Given the description of an element on the screen output the (x, y) to click on. 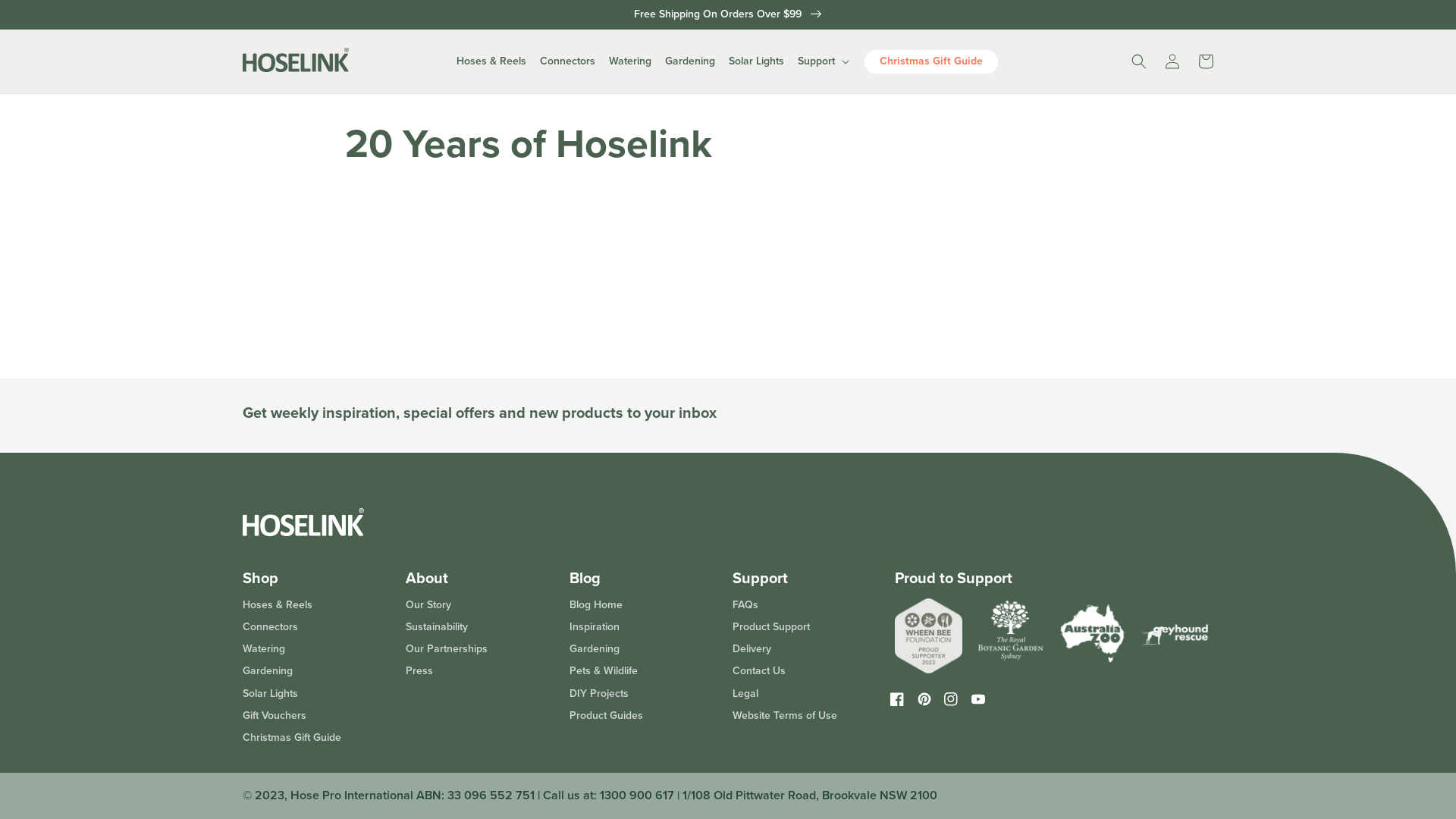
Facebook Element type: text (897, 698)
Solar Lights Element type: text (270, 693)
Delivery Element type: text (751, 648)
Gardening Element type: text (267, 670)
Website Terms of Use Element type: text (784, 715)
Pinterest Element type: text (923, 698)
Gardening Element type: text (594, 648)
Inspiration Element type: text (594, 626)
Instagram Element type: text (950, 698)
Log in Element type: text (1172, 61)
FAQs Element type: text (745, 606)
Blog Home Element type: text (595, 606)
DIY Projects Element type: text (598, 693)
Our Partnerships Element type: text (446, 648)
Connectors Element type: text (566, 61)
Contact Us Element type: text (758, 670)
Gift Vouchers Element type: text (274, 715)
Pets & Wildlife Element type: text (603, 670)
Cart Element type: text (1205, 61)
Christmas Gift Guide Element type: text (291, 737)
Connectors Element type: text (270, 626)
Press Element type: text (419, 670)
Hoses & Reels Element type: text (490, 61)
Watering Element type: text (630, 61)
Watering Element type: text (263, 648)
1300 900 617 Element type: text (636, 794)
Our Story Element type: text (428, 606)
Solar Lights Element type: text (755, 61)
Hoses & Reels Element type: text (277, 606)
Hose Pro International Element type: text (351, 794)
YouTube Element type: text (977, 698)
Product Guides Element type: text (606, 715)
Christmas Gift Guide Element type: text (930, 61)
Gardening Element type: text (689, 61)
Product Support Element type: text (770, 626)
Legal Element type: text (745, 693)
Sustainability Element type: text (436, 626)
